Given the description of an element on the screen output the (x, y) to click on. 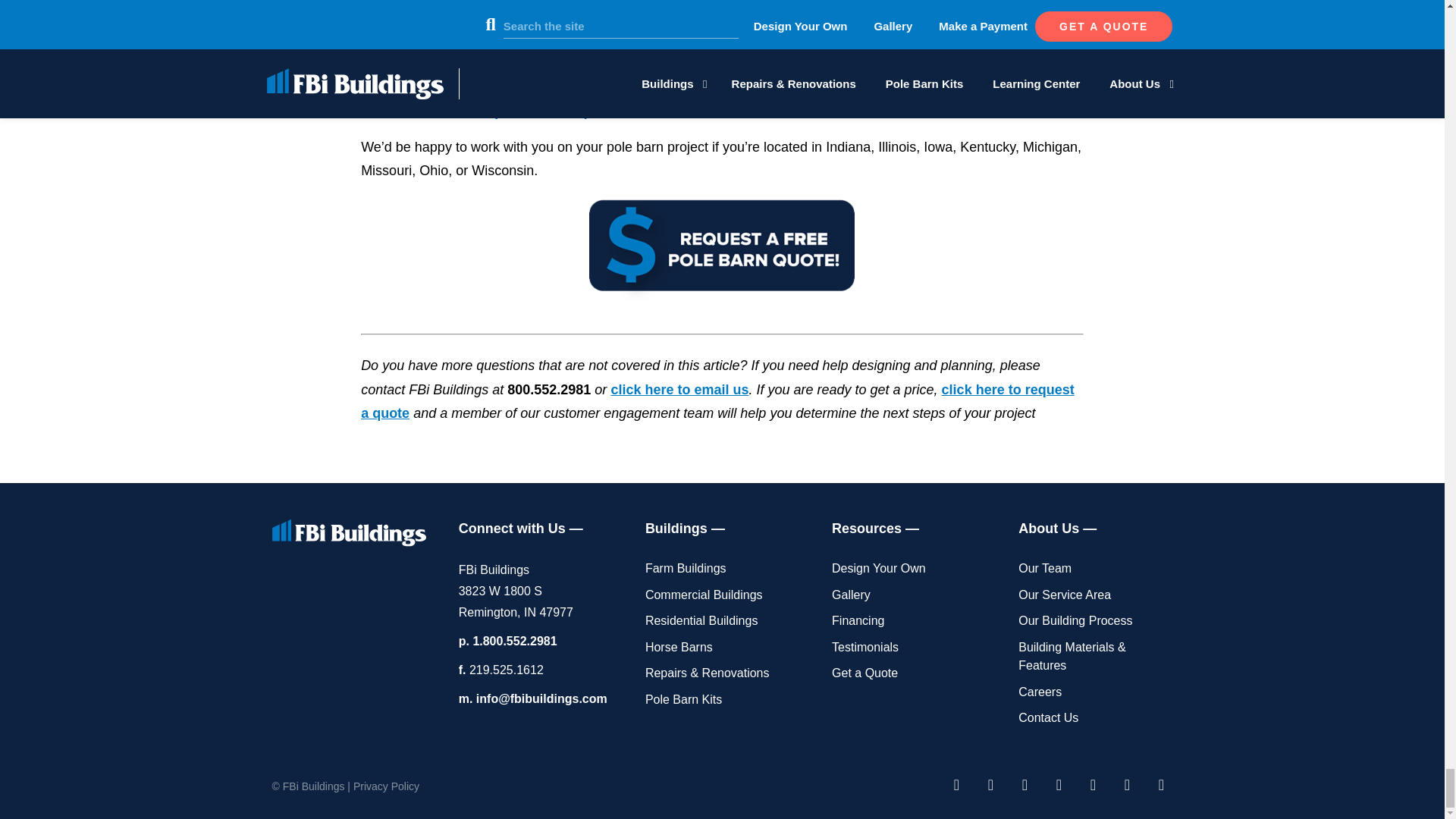
Follow us on Pinterest (1024, 784)
Follow us on Instagram (1092, 784)
Follow us on Twitter (1058, 784)
Subscribe to us on YouTube (989, 784)
Like us on Facebook (956, 784)
Like us on LinkedIn (1126, 784)
